Given the description of an element on the screen output the (x, y) to click on. 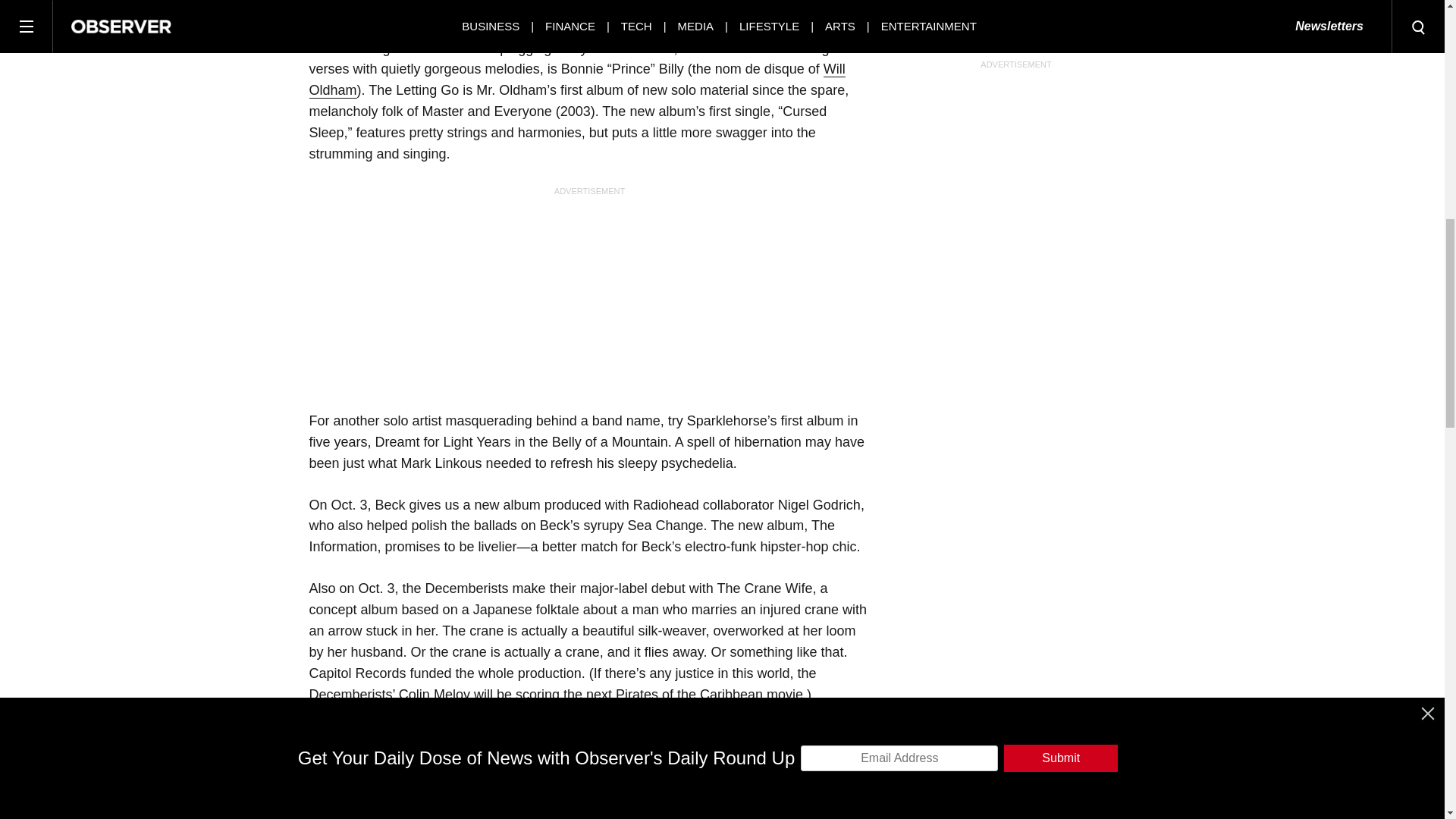
Will Oldham (576, 79)
